Given the description of an element on the screen output the (x, y) to click on. 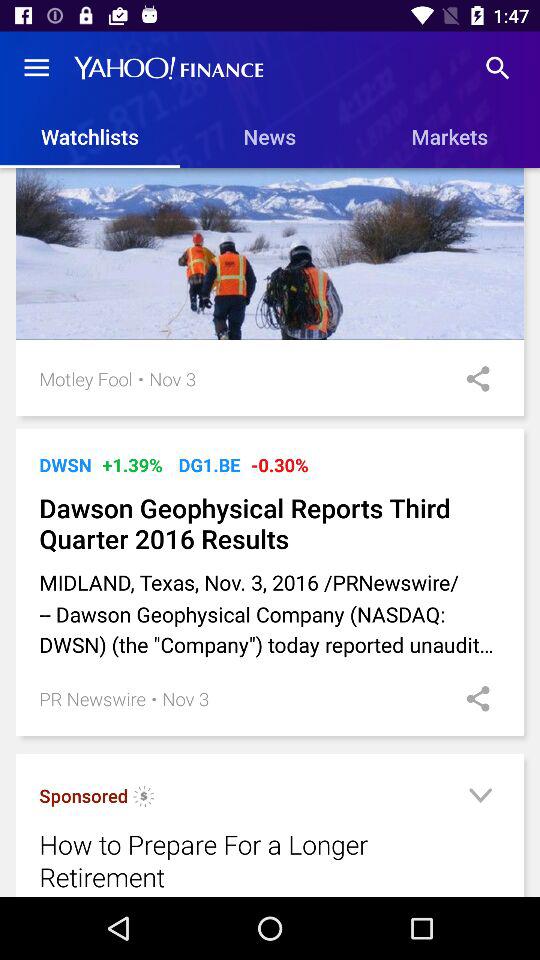
click the item below the midland texas nov item (154, 698)
